Given the description of an element on the screen output the (x, y) to click on. 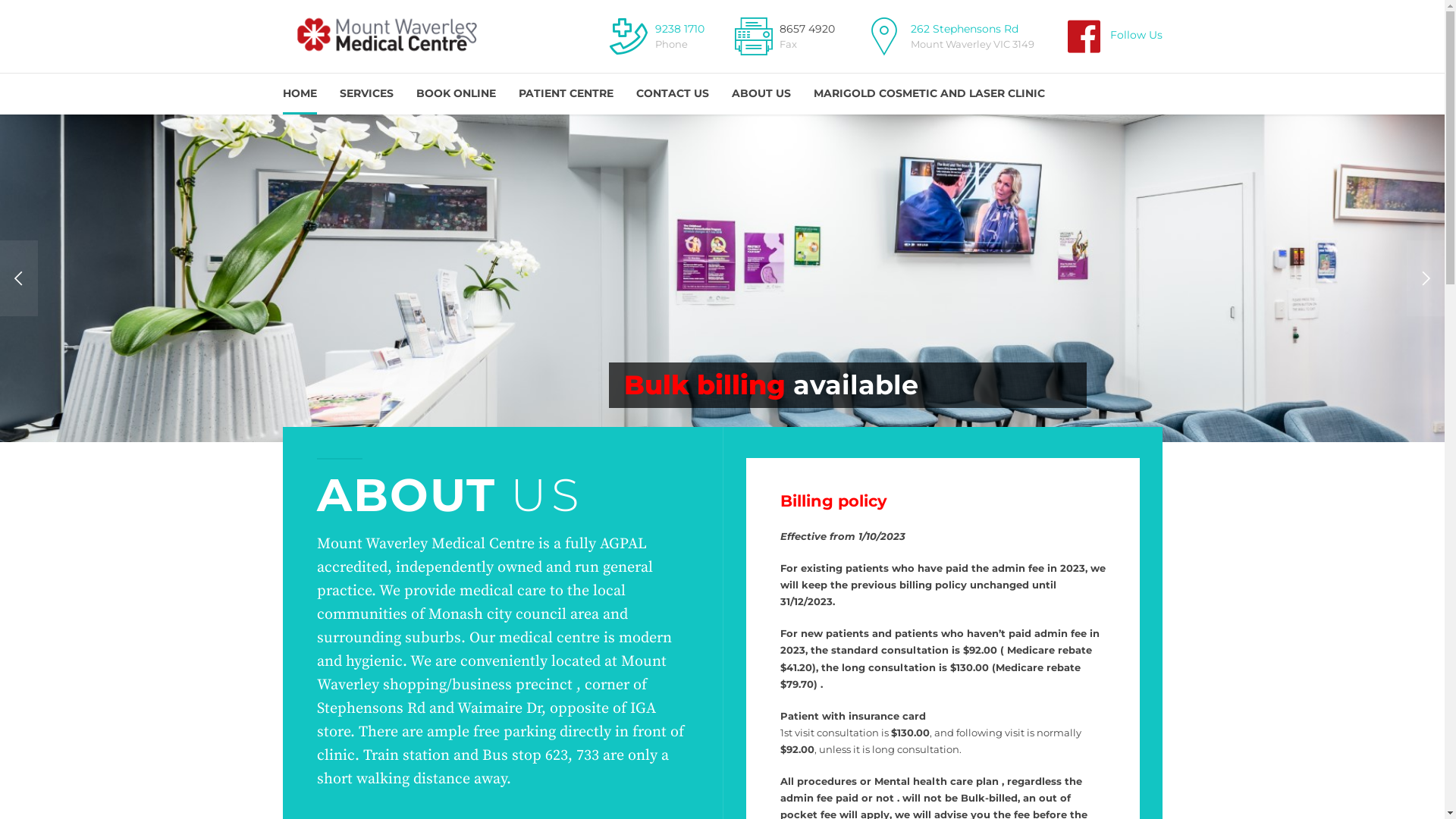
SERVICES Element type: text (366, 93)
BOOK ONLINE Element type: text (455, 93)
9238 1710
Phone Element type: text (654, 36)
262 Stephensons Rd
Mount Waverley VIC 3149 Element type: text (947, 36)
PATIENT CENTRE Element type: text (565, 93)
Follow Us Element type: text (1111, 36)
MARIGOLD COSMETIC AND LASER CLINIC Element type: text (928, 93)
CONTACT US Element type: text (671, 93)
HOME Element type: text (299, 93)
ABOUT US Element type: text (760, 93)
